Given the description of an element on the screen output the (x, y) to click on. 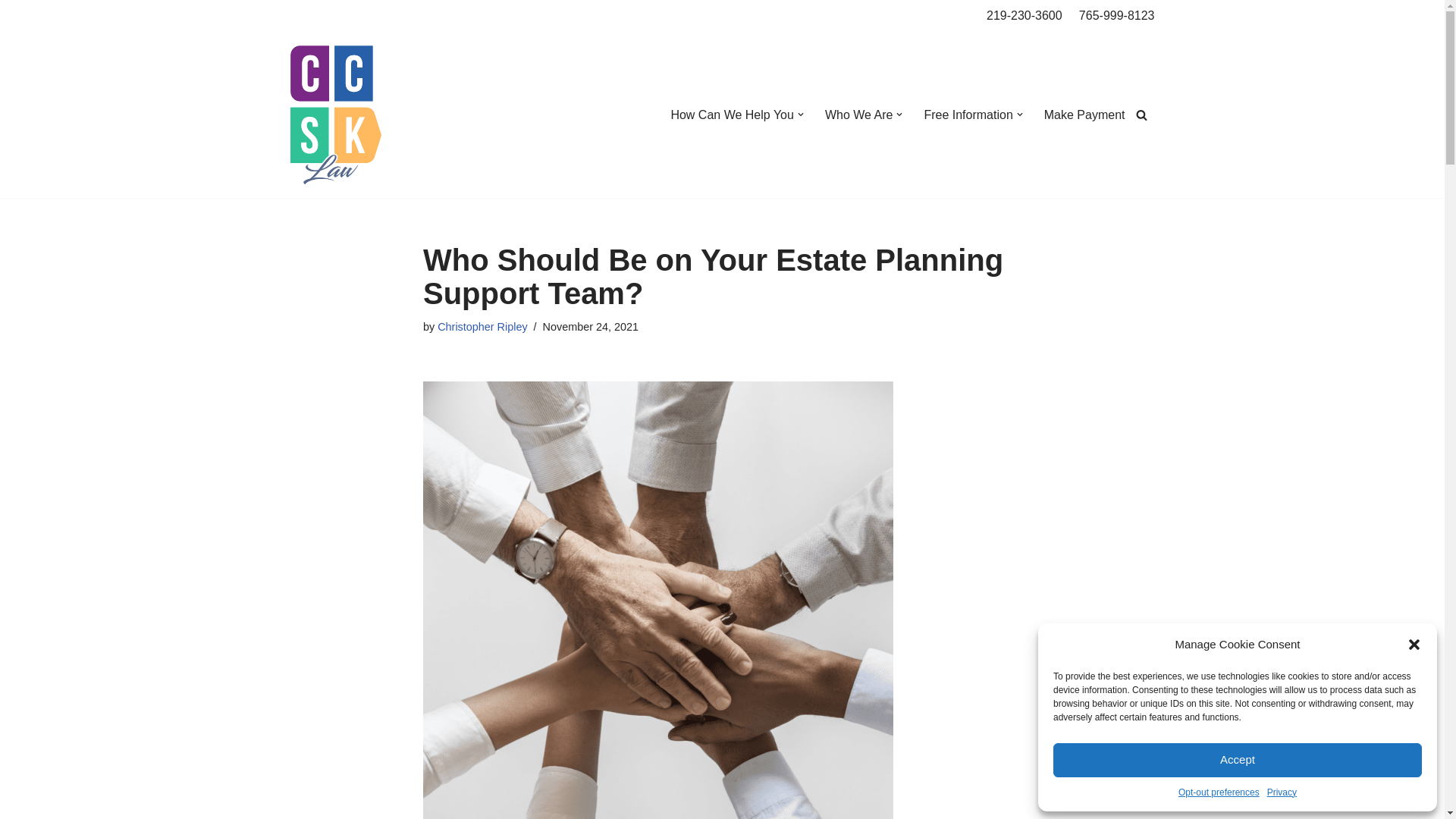
Skip to content (11, 31)
Accept (1237, 759)
Privacy (1281, 792)
How Can We Help You (731, 114)
Free Information (967, 114)
Opt-out preferences (1218, 792)
Make Payment (1084, 114)
Who We Are (859, 114)
